Given the description of an element on the screen output the (x, y) to click on. 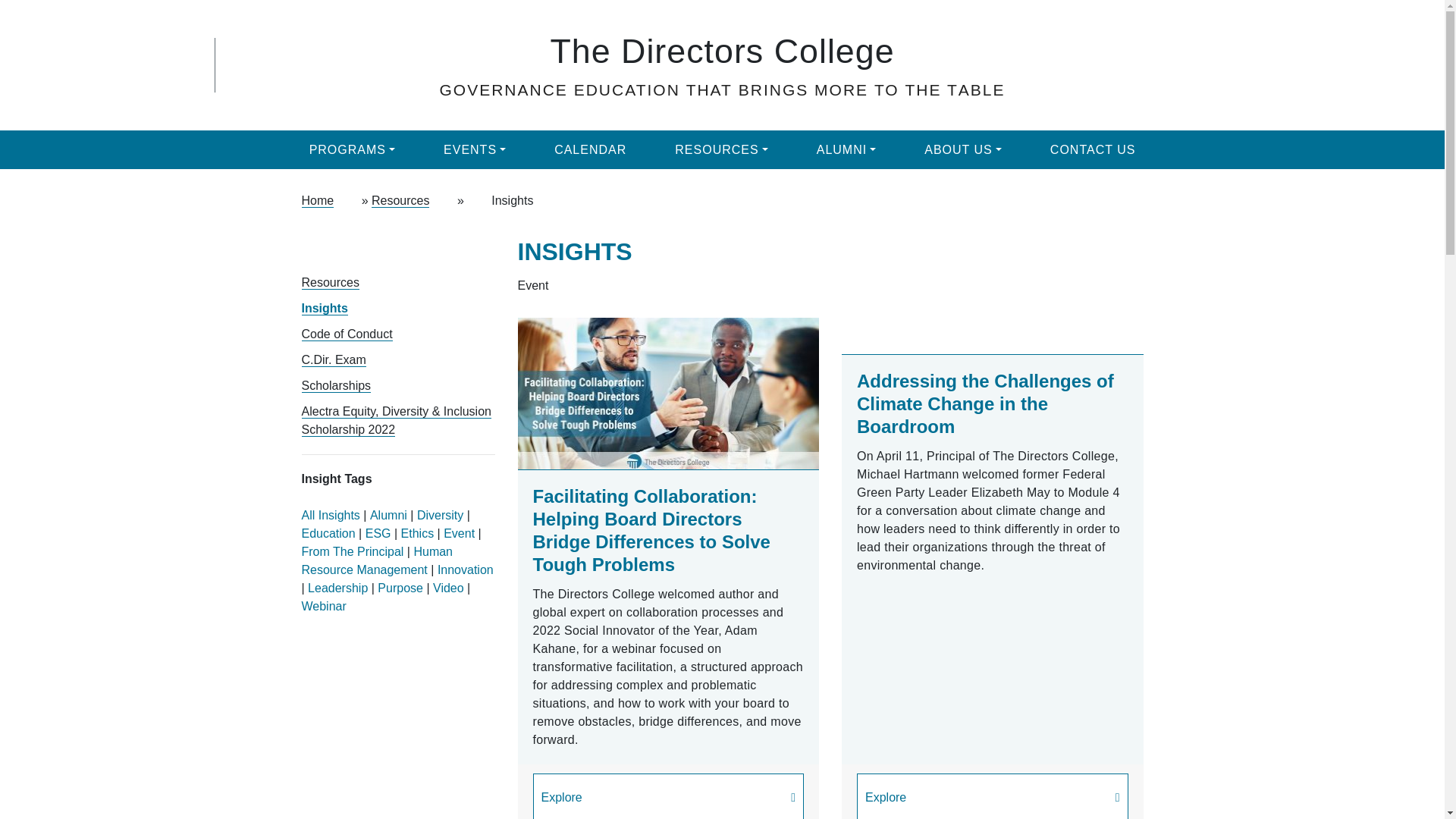
The Directors College (721, 50)
PROGRAMS (352, 149)
